Given the description of an element on the screen output the (x, y) to click on. 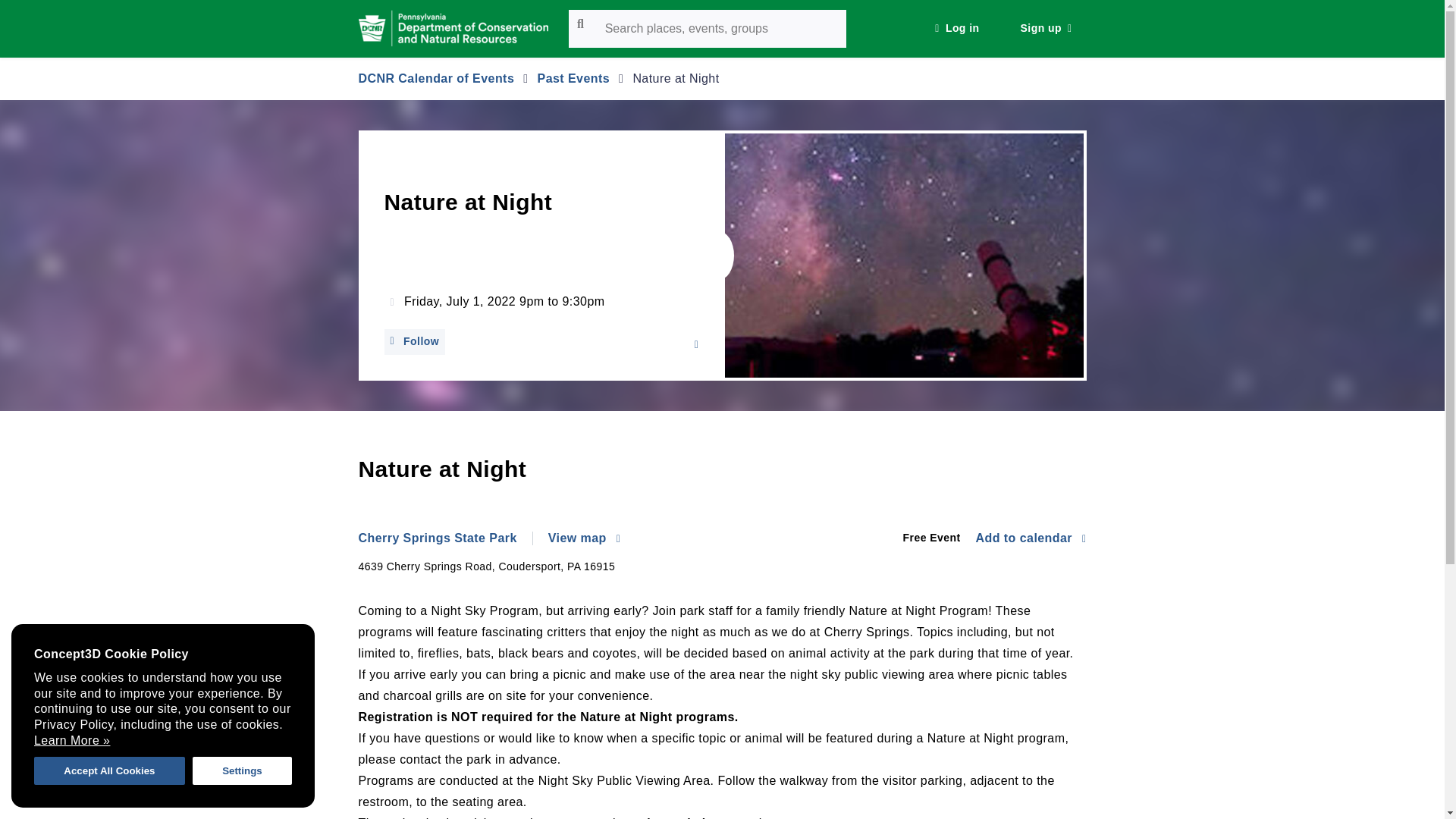
Sign up (1046, 28)
DCNR Calendar of Events (435, 78)
Follow (414, 341)
Add to calendar (1030, 538)
Past Events (573, 78)
View map (584, 538)
Cherry Springs State Park (445, 538)
Log in (956, 28)
